Given the description of an element on the screen output the (x, y) to click on. 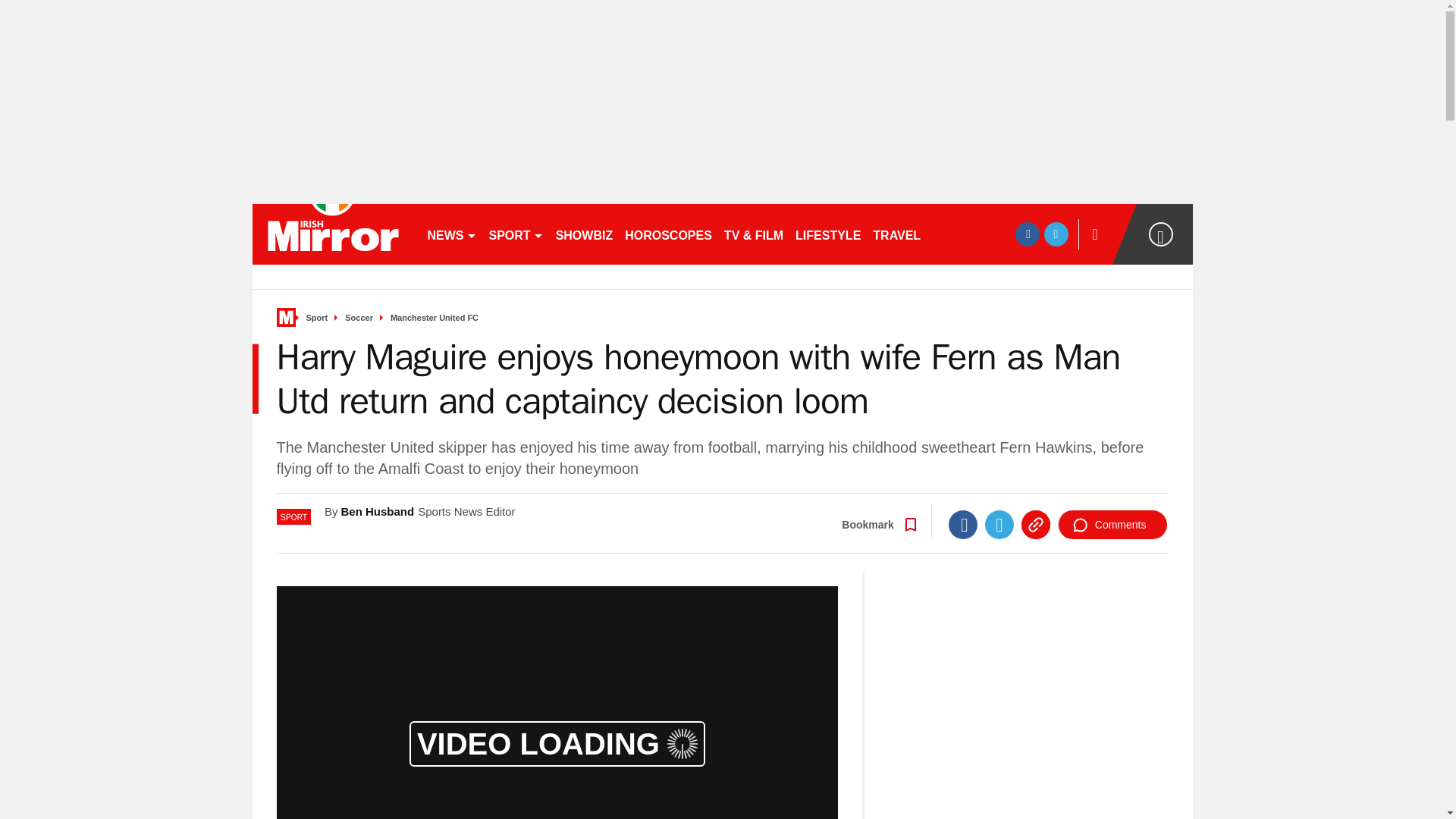
twitter (1055, 233)
LIFESTYLE (827, 233)
Facebook (962, 524)
TRAVEL (896, 233)
SPORT (514, 233)
PROPERTY (966, 233)
HOROSCOPES (667, 233)
SHOWBIZ (585, 233)
NEWS (452, 233)
Comments (1112, 524)
